Given the description of an element on the screen output the (x, y) to click on. 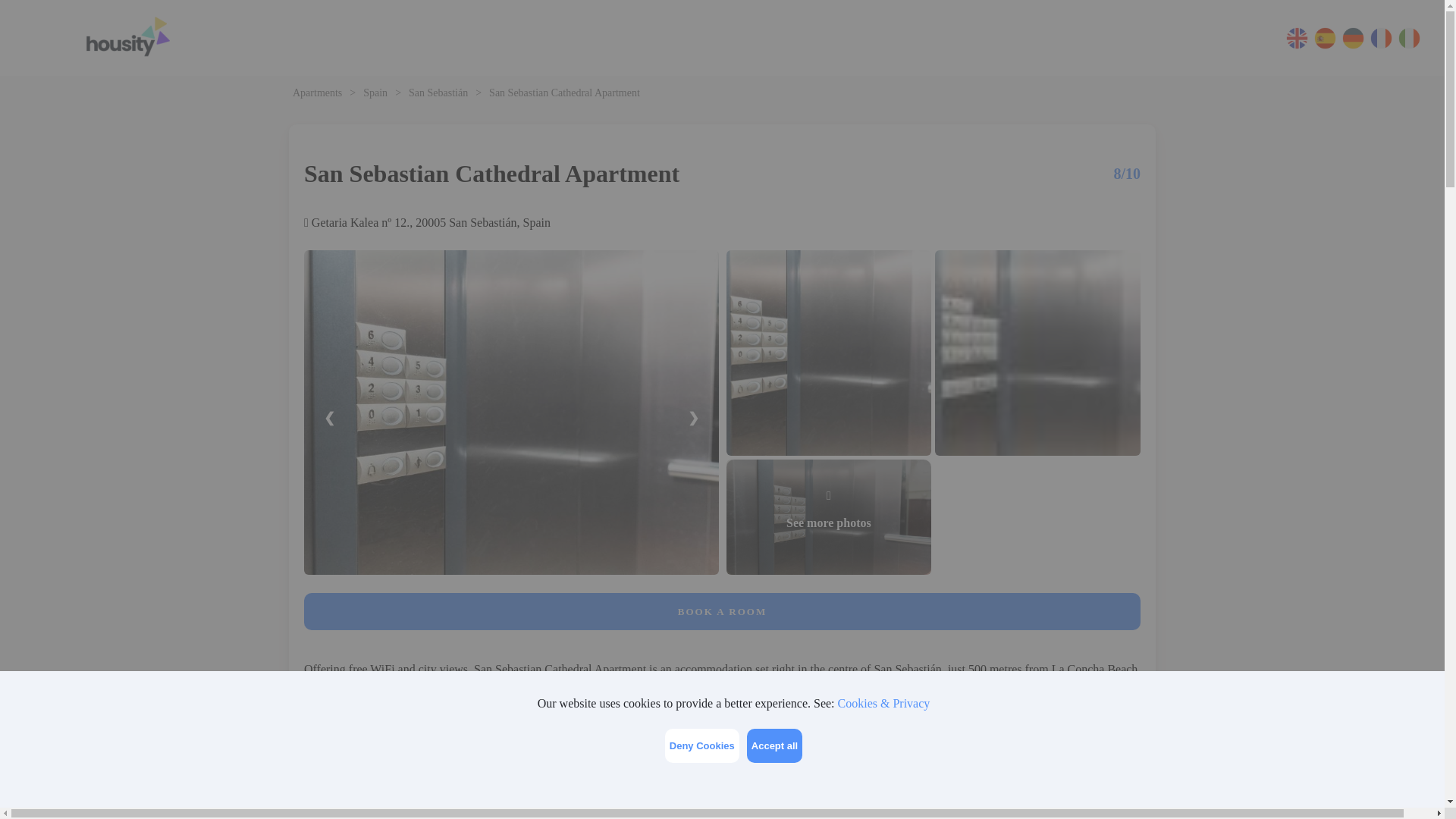
Accept all (774, 745)
Spain (374, 92)
BOOK A ROOM (722, 611)
Apartments (317, 92)
See more photos (828, 516)
Deny Cookies (702, 745)
